Given the description of an element on the screen output the (x, y) to click on. 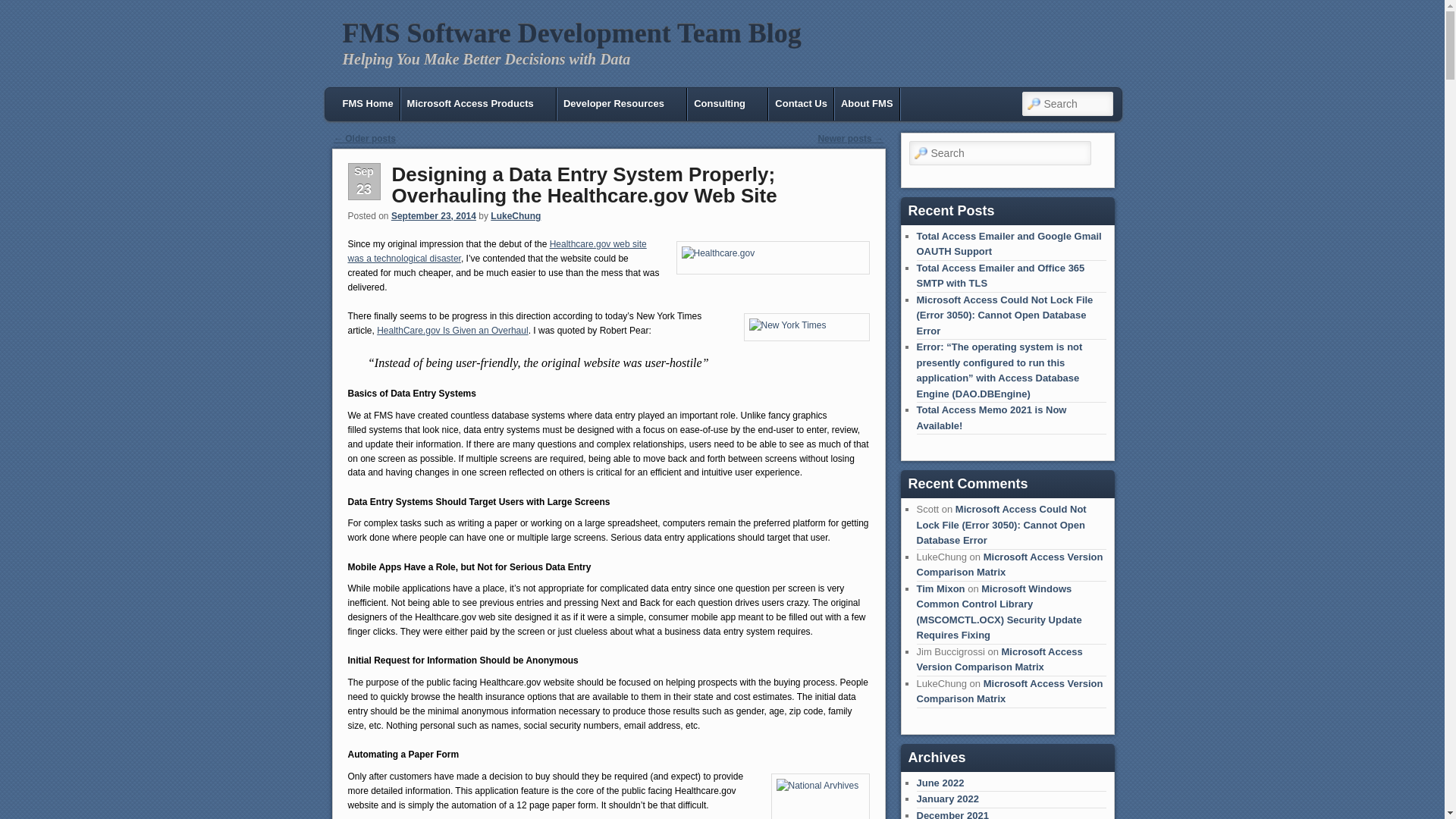
Skip to primary content (390, 98)
View all posts by LukeChung (515, 215)
Skip to secondary content (395, 98)
FMS Home (367, 103)
Skip to primary content (390, 98)
Twitter (1093, 73)
FMS Software Development Team Blog (572, 33)
Facebook (1071, 73)
2:31 PM (433, 215)
